Given the description of an element on the screen output the (x, y) to click on. 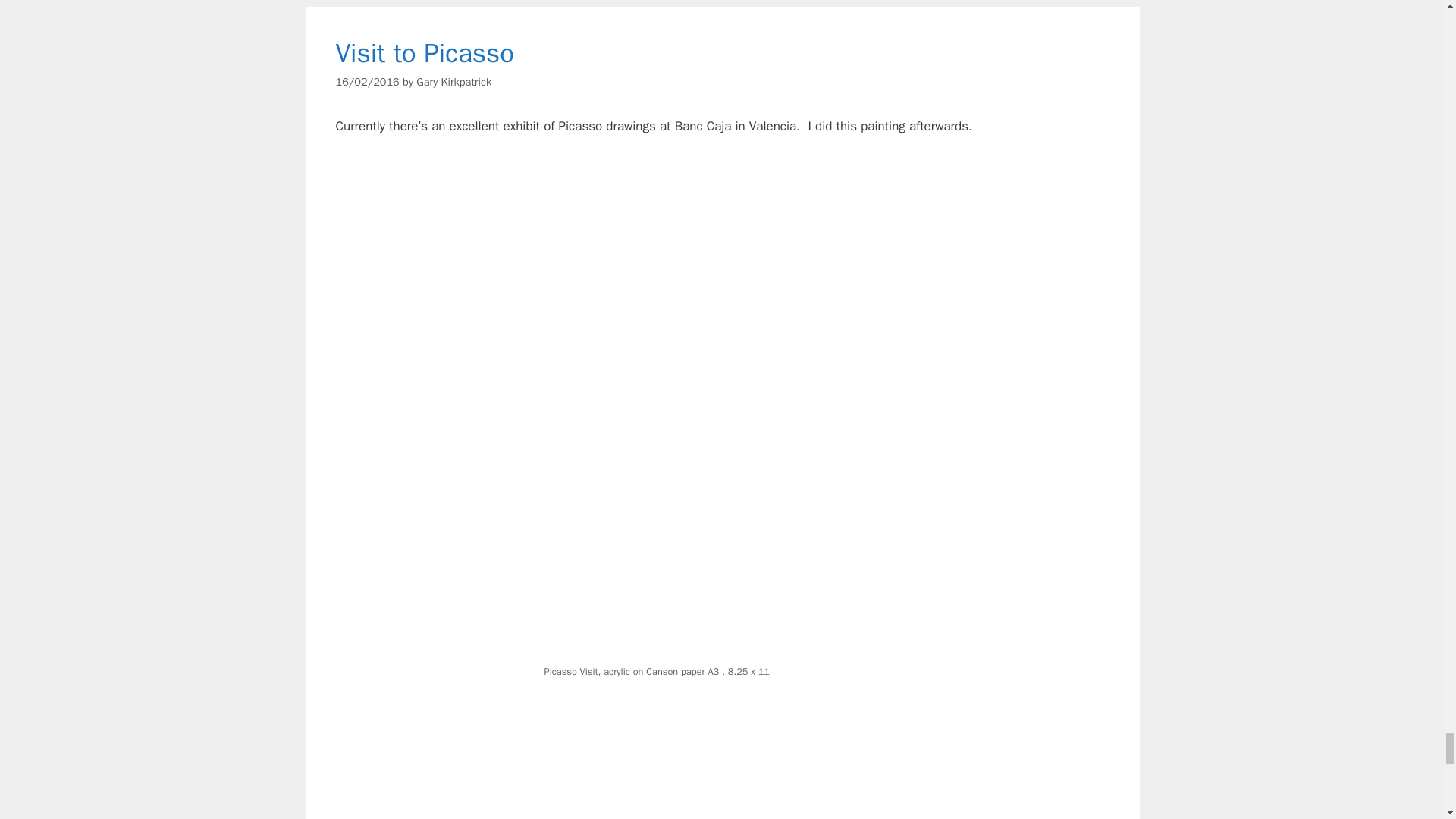
View all posts by Gary Kirkpatrick (454, 80)
